Given the description of an element on the screen output the (x, y) to click on. 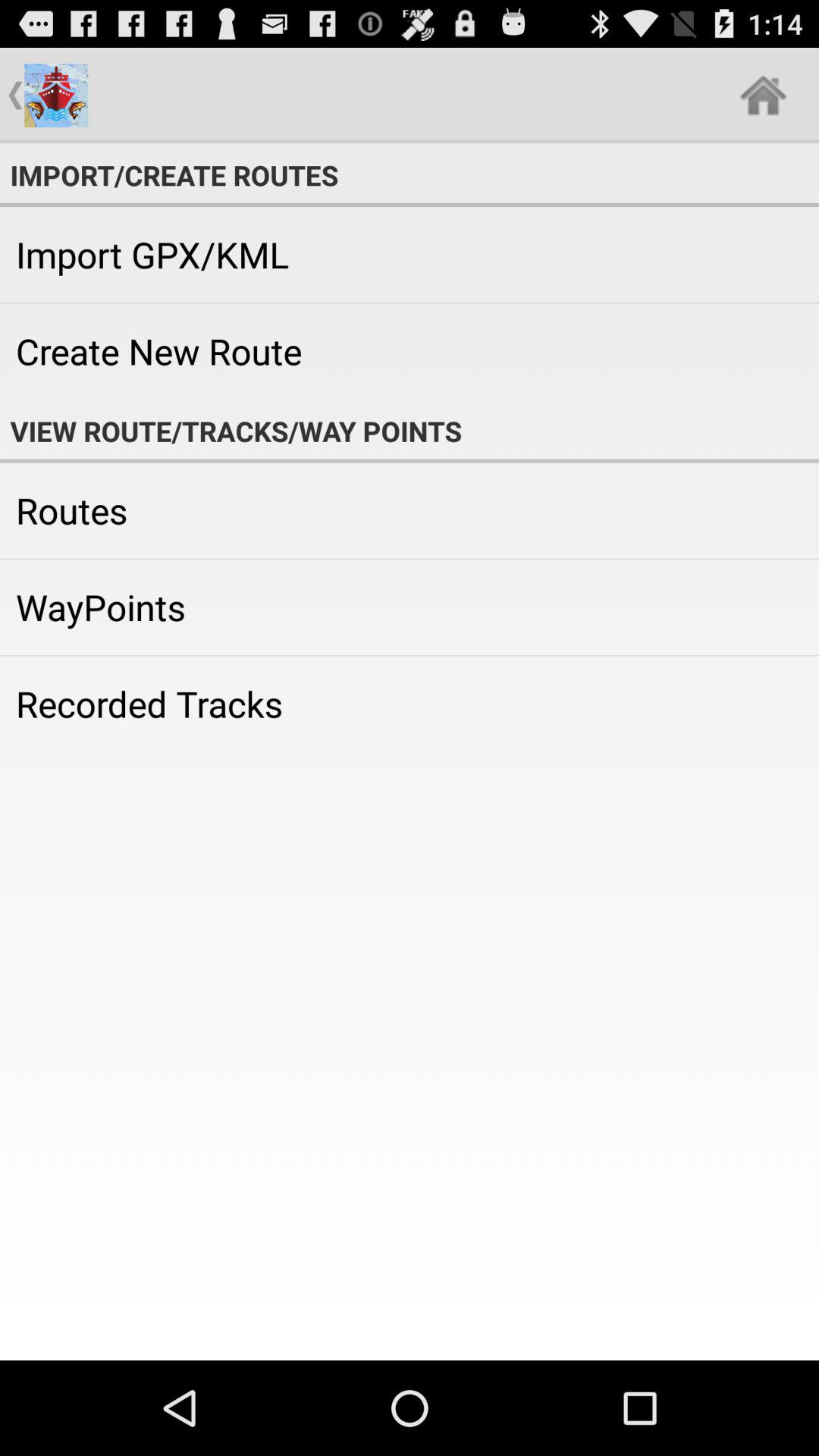
tap item below import gpx/kml (409, 351)
